Given the description of an element on the screen output the (x, y) to click on. 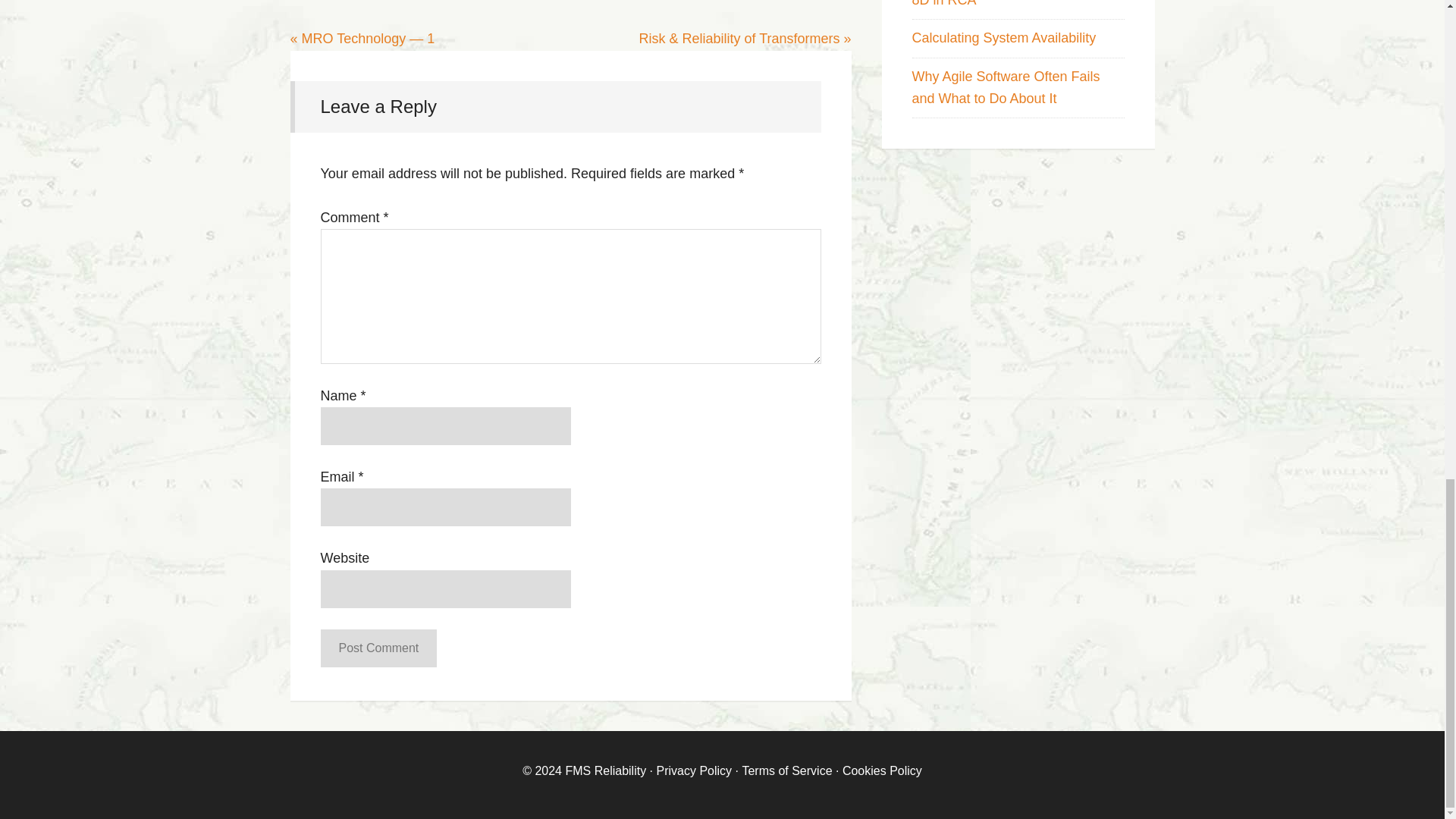
Post Comment (378, 648)
